Given the description of an element on the screen output the (x, y) to click on. 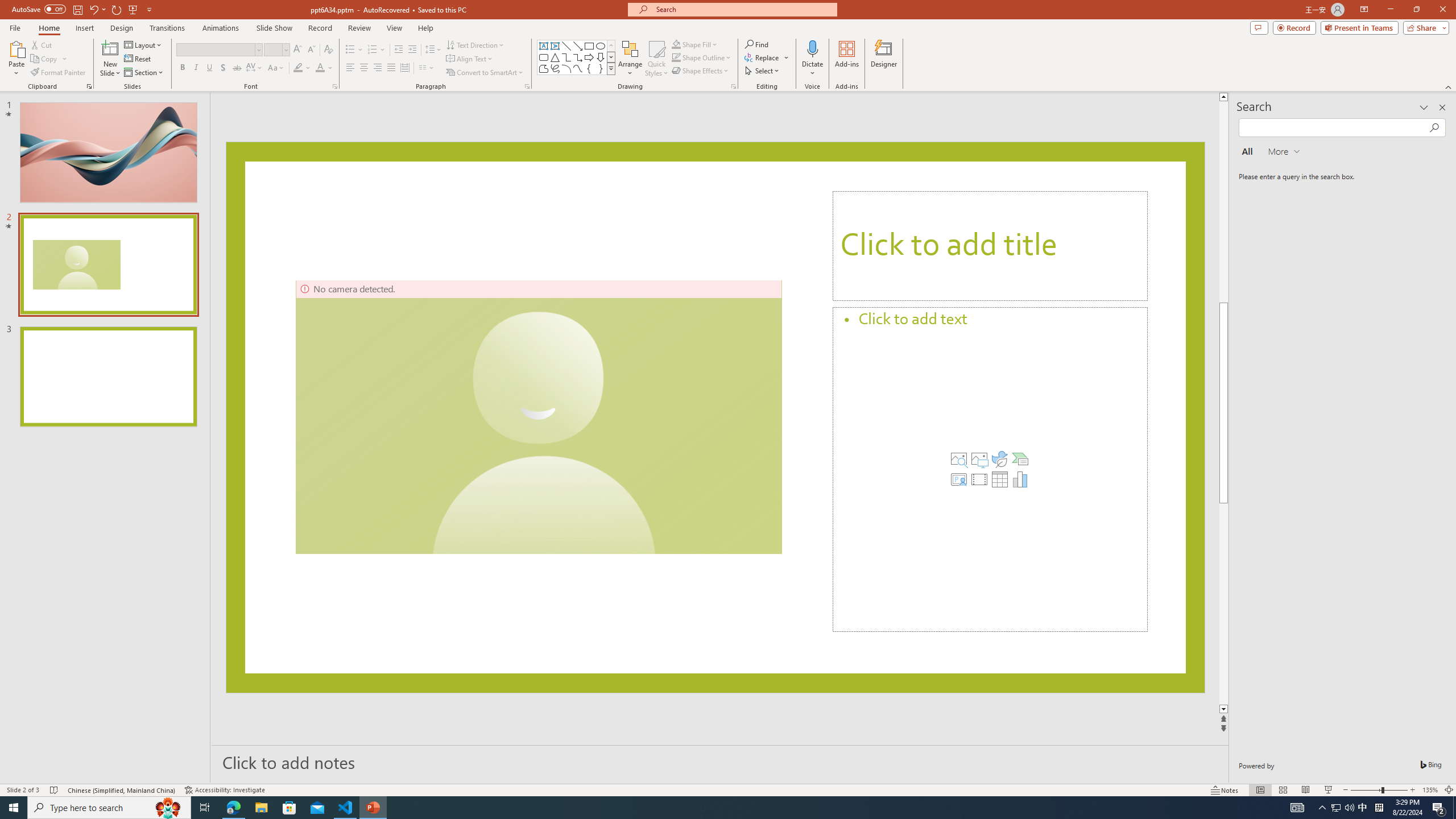
Format Painter (58, 72)
Notes  (1225, 790)
Copy (45, 58)
Increase Indent (412, 49)
Line down (1225, 709)
Character Spacing (254, 67)
Customize Quick Access Toolbar (149, 9)
Clear Formatting (327, 49)
AutoSave (38, 9)
File Tab (15, 27)
Isosceles Triangle (554, 57)
Replace... (767, 56)
Font Color (324, 67)
Comments (1259, 27)
Title TextBox (989, 245)
